Given the description of an element on the screen output the (x, y) to click on. 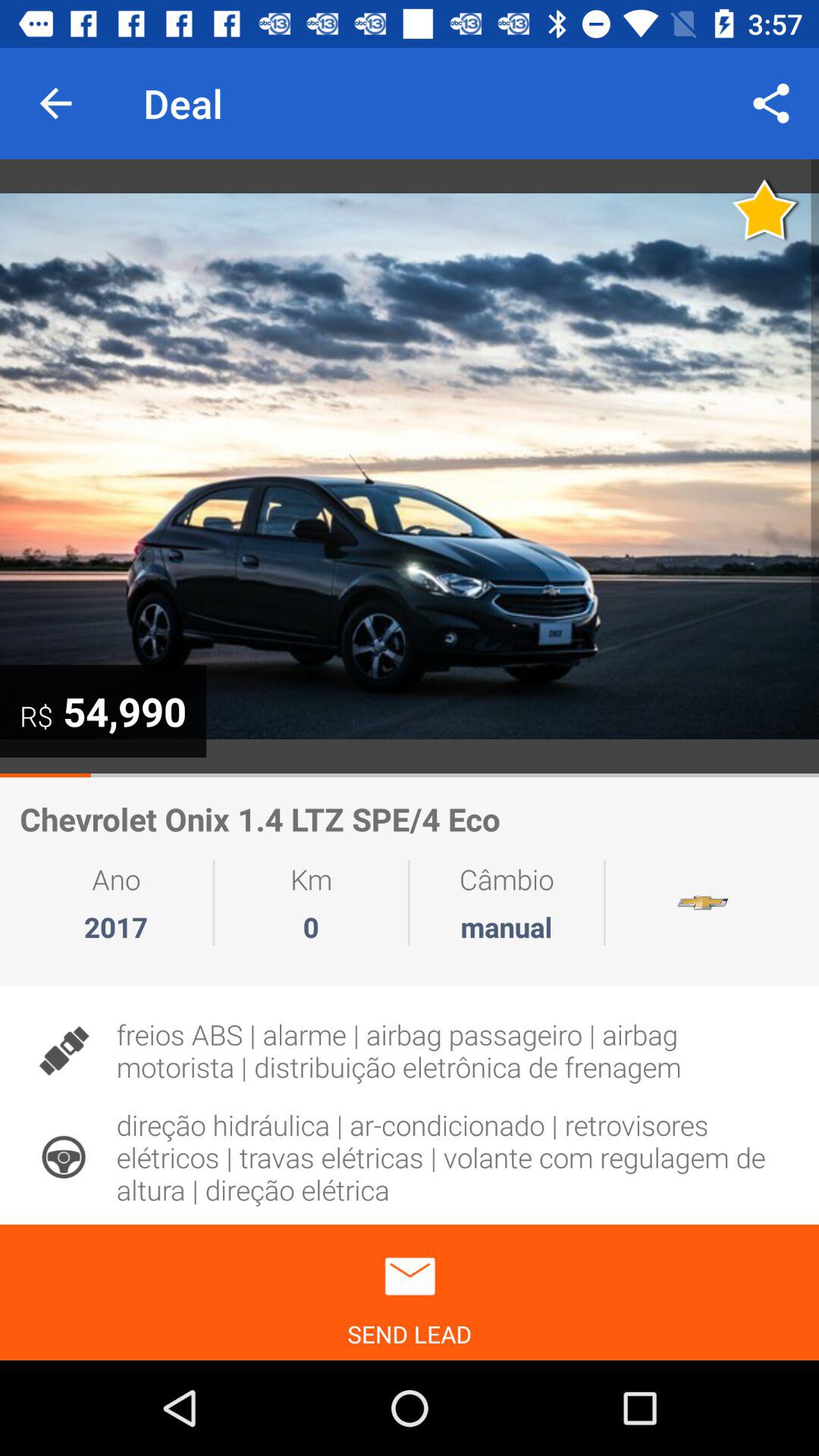
add/remove to/from favorites (765, 209)
